Given the description of an element on the screen output the (x, y) to click on. 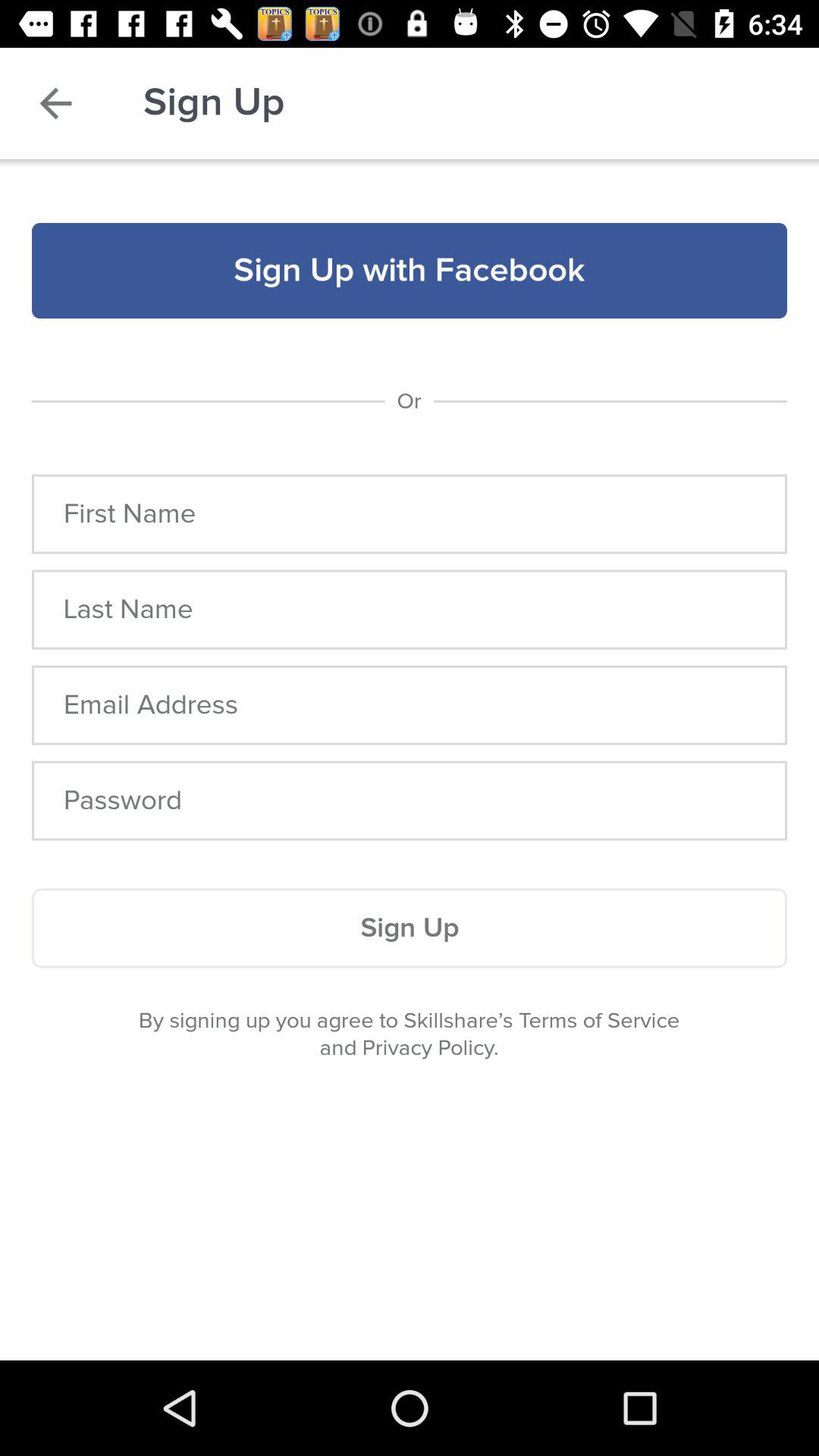
email address (409, 705)
